Given the description of an element on the screen output the (x, y) to click on. 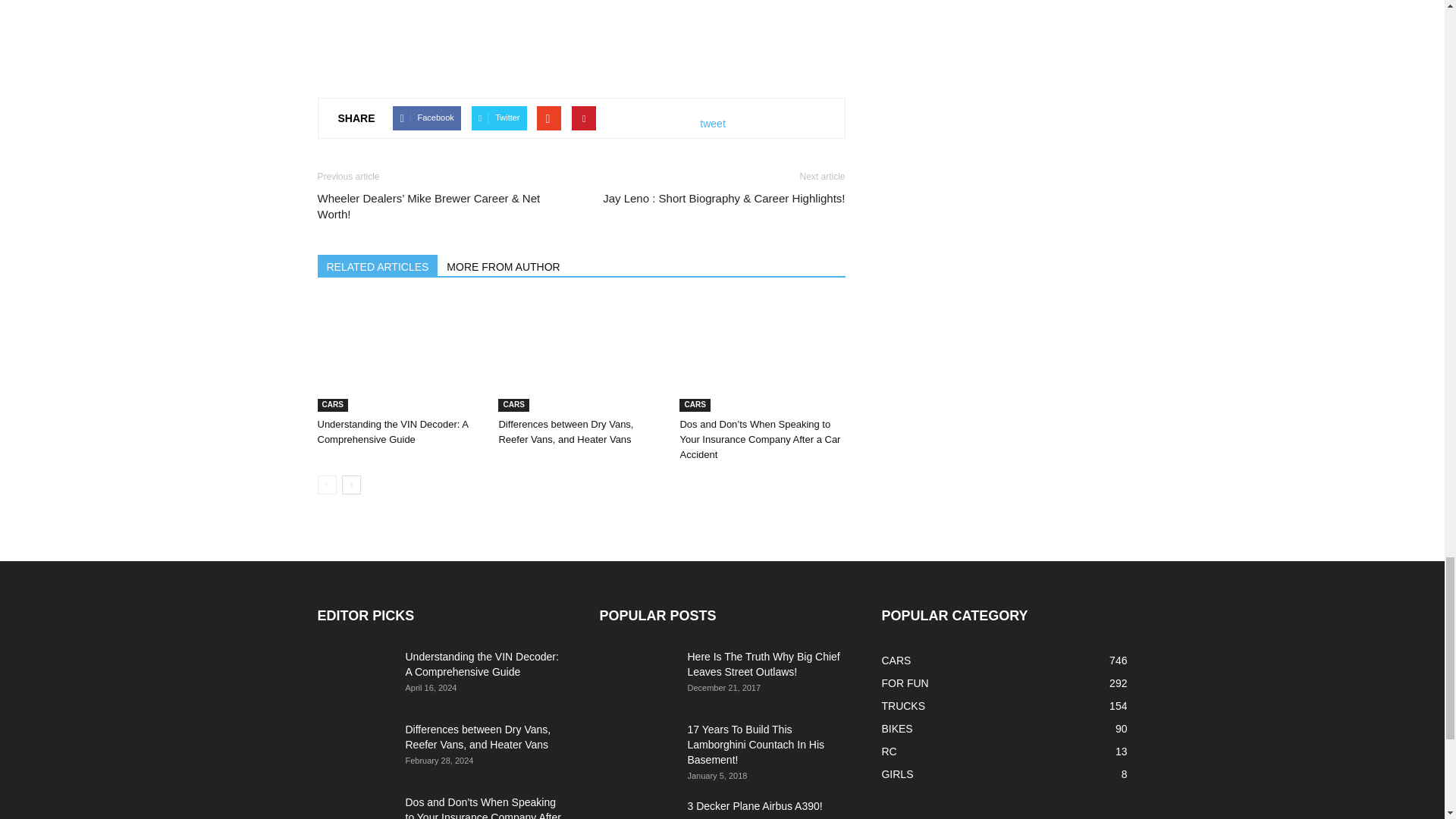
Understanding the VIN Decoder: A Comprehensive Guide (392, 431)
Differences between Dry Vans, Reefer Vans, and Heater Vans (580, 354)
Understanding the VIN Decoder: A Comprehensive Guide (399, 354)
